Given the description of an element on the screen output the (x, y) to click on. 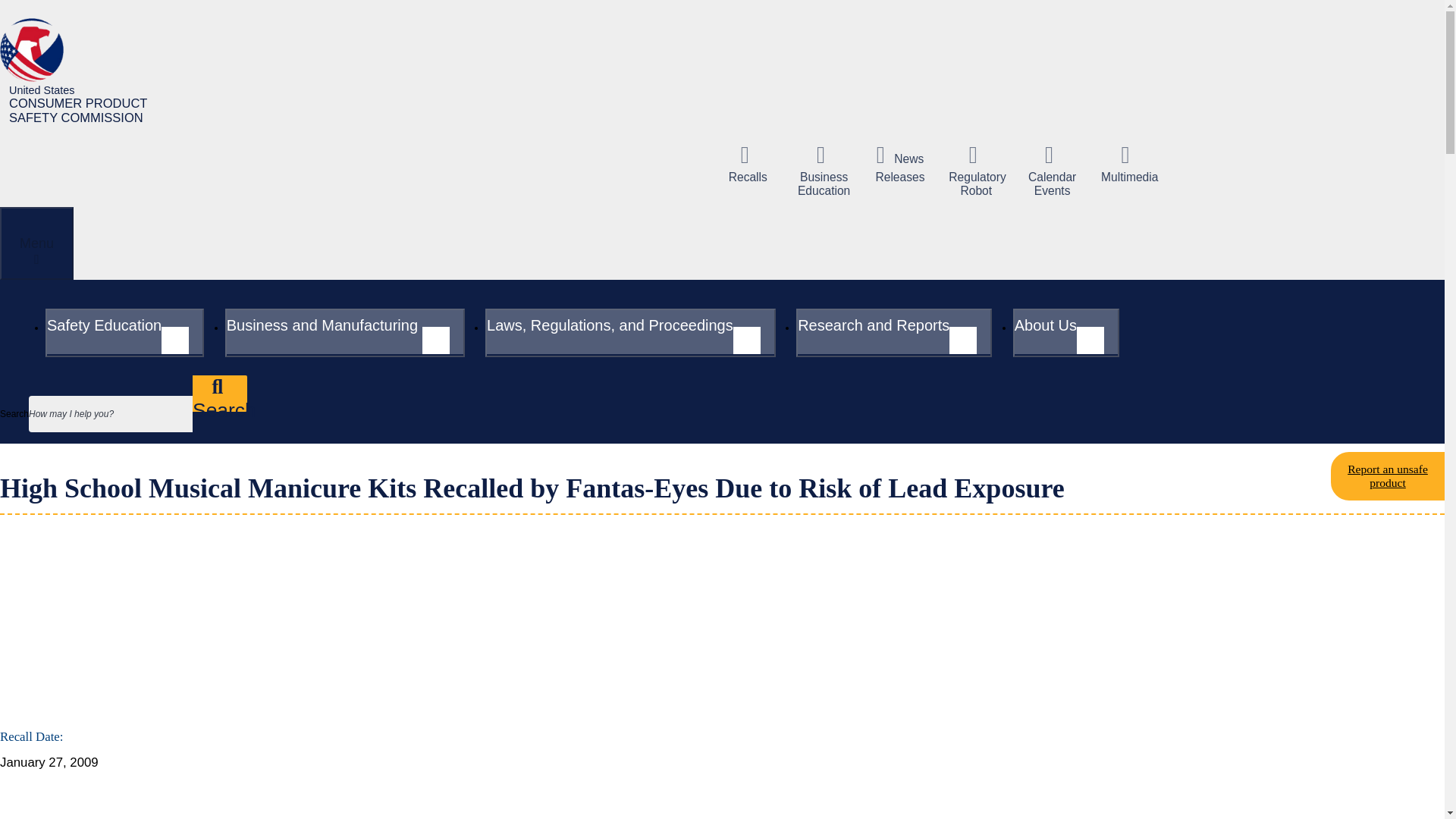
  Business Education (823, 170)
  Recalls (747, 163)
Share it on Facebook (108, 590)
Print Page (81, 71)
  News Releases (409, 590)
Share it on Twitter (899, 163)
Research and Reports (238, 590)
Menu (893, 332)
Regulatory Robot (37, 243)
